Given the description of an element on the screen output the (x, y) to click on. 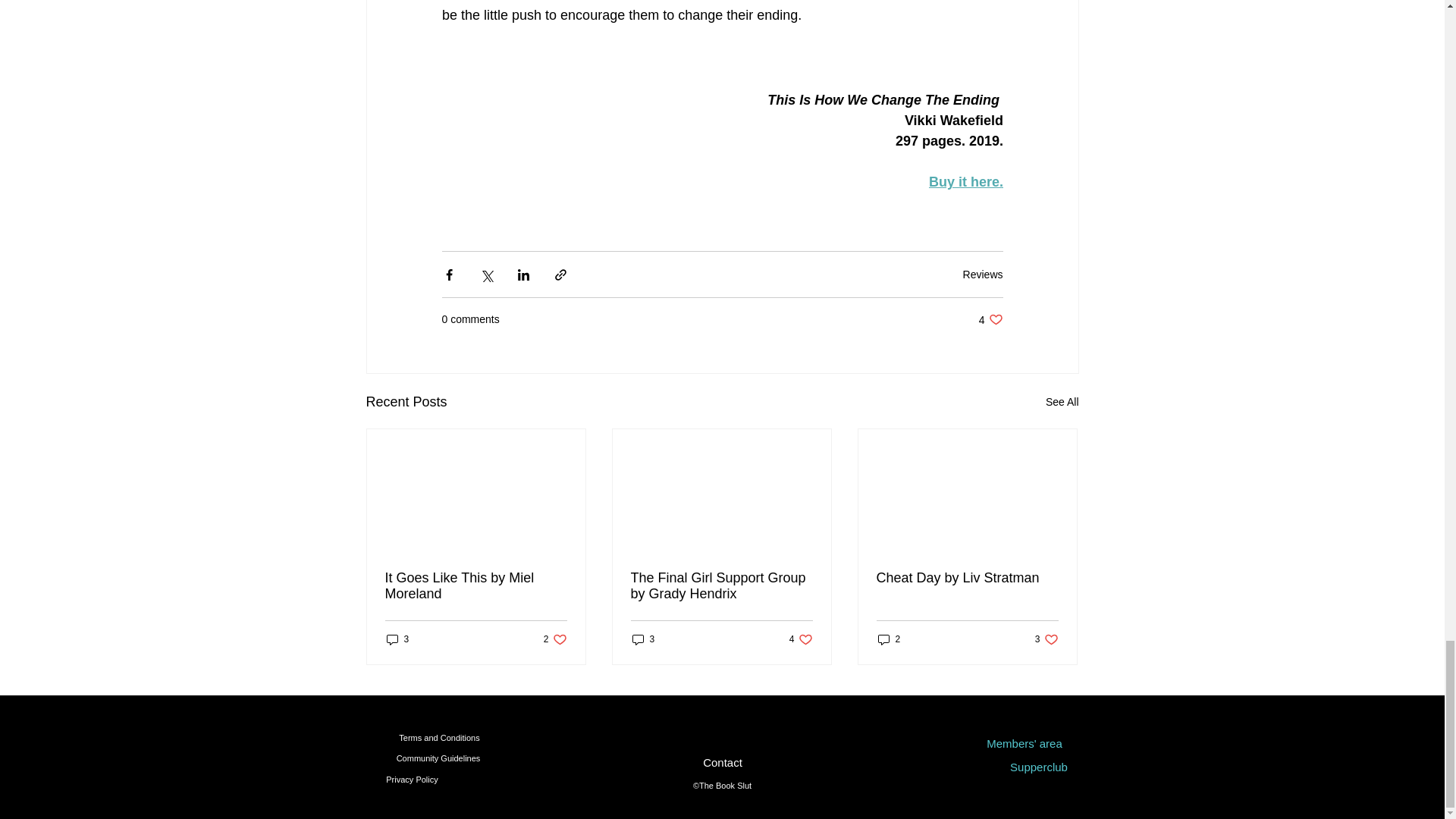
3 (397, 639)
It Goes Like This by Miel Moreland (1046, 639)
Reviews (476, 585)
2 (982, 274)
Cheat Day by Liv Stratman (990, 319)
The Final Girl Support Group by Grady Hendrix (889, 639)
3 (967, 578)
Buy it here. (555, 639)
See All (721, 585)
